Given the description of an element on the screen output the (x, y) to click on. 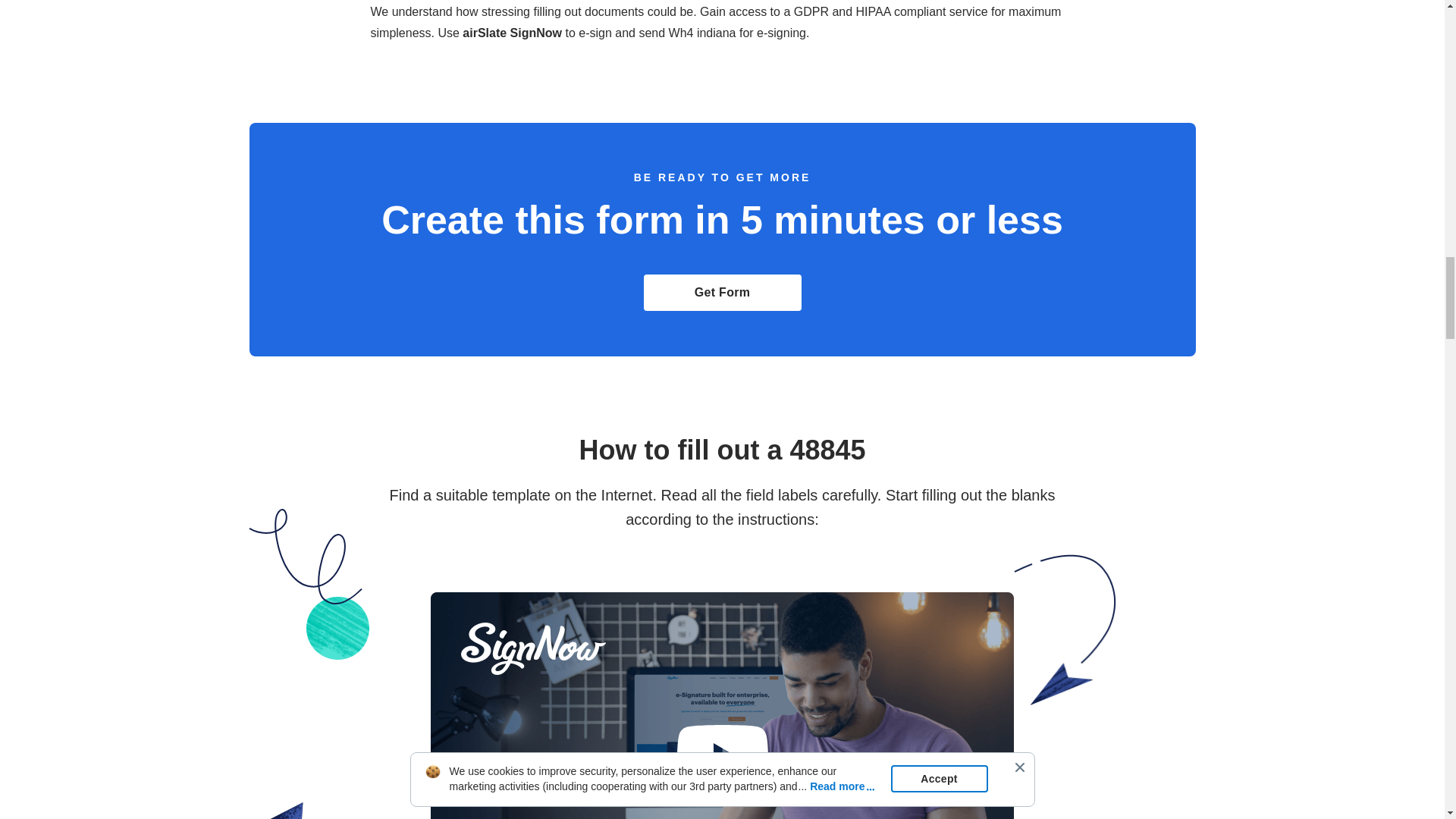
Get Form (721, 292)
